Given the description of an element on the screen output the (x, y) to click on. 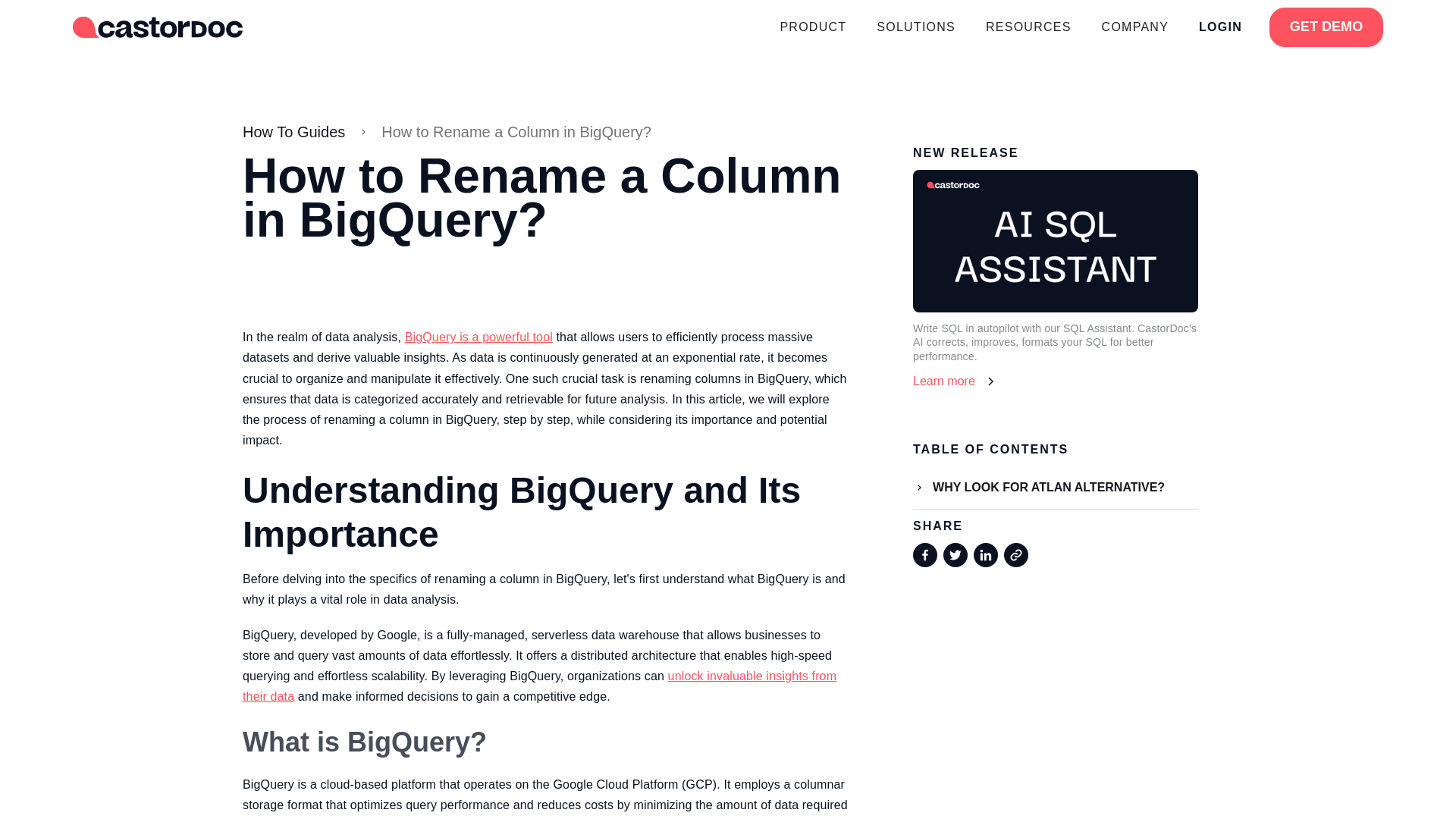
Learn more (1055, 381)
GET DEMO (1326, 27)
LOGIN (1220, 27)
WHY LOOK FOR ATLAN ALTERNATIVE? (1055, 487)
unlock invaluable insights from their data (545, 131)
BigQuery is a powerful tool (539, 685)
